Given the description of an element on the screen output the (x, y) to click on. 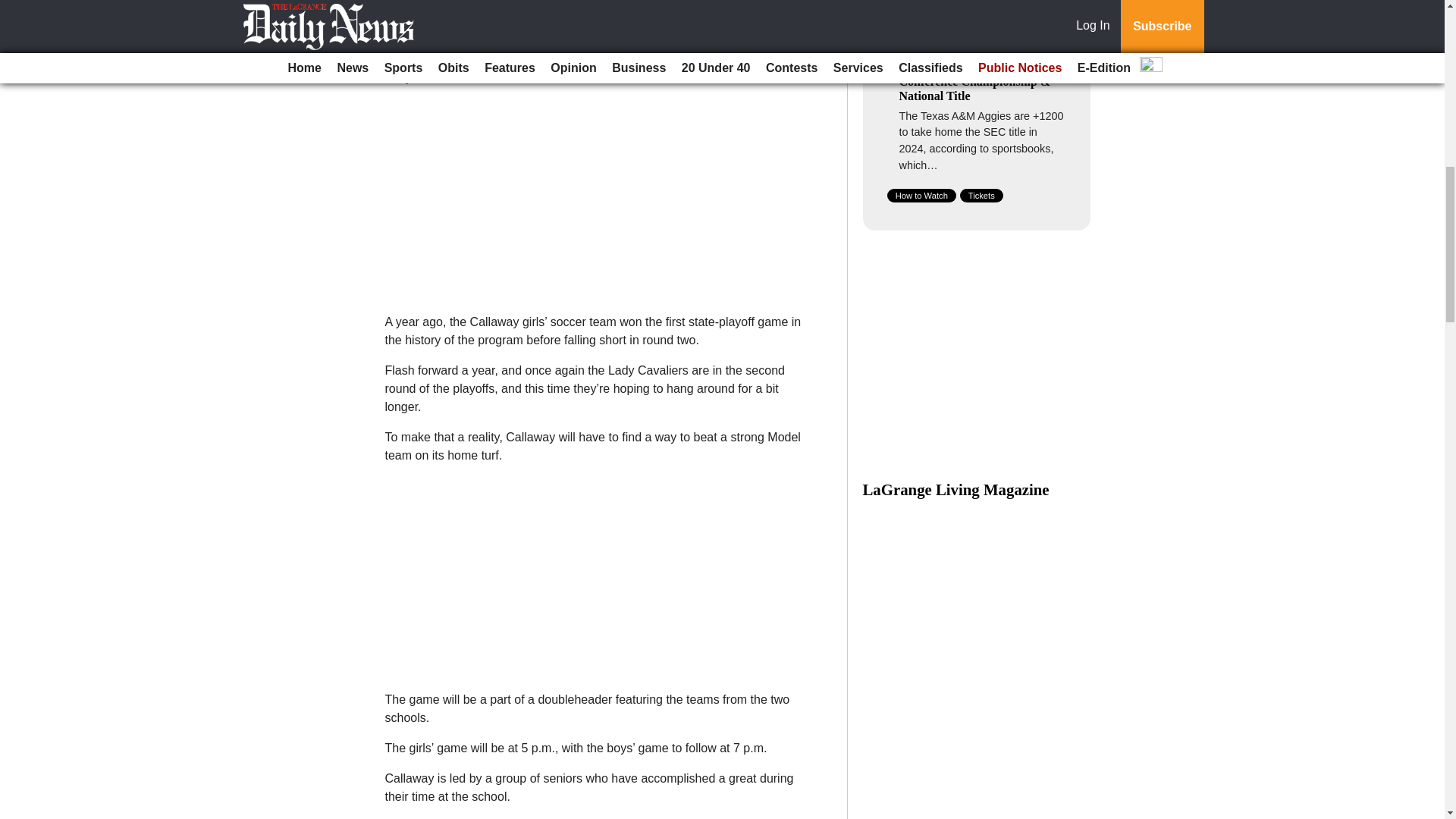
How to Watch (921, 195)
Tickets (981, 195)
